Given the description of an element on the screen output the (x, y) to click on. 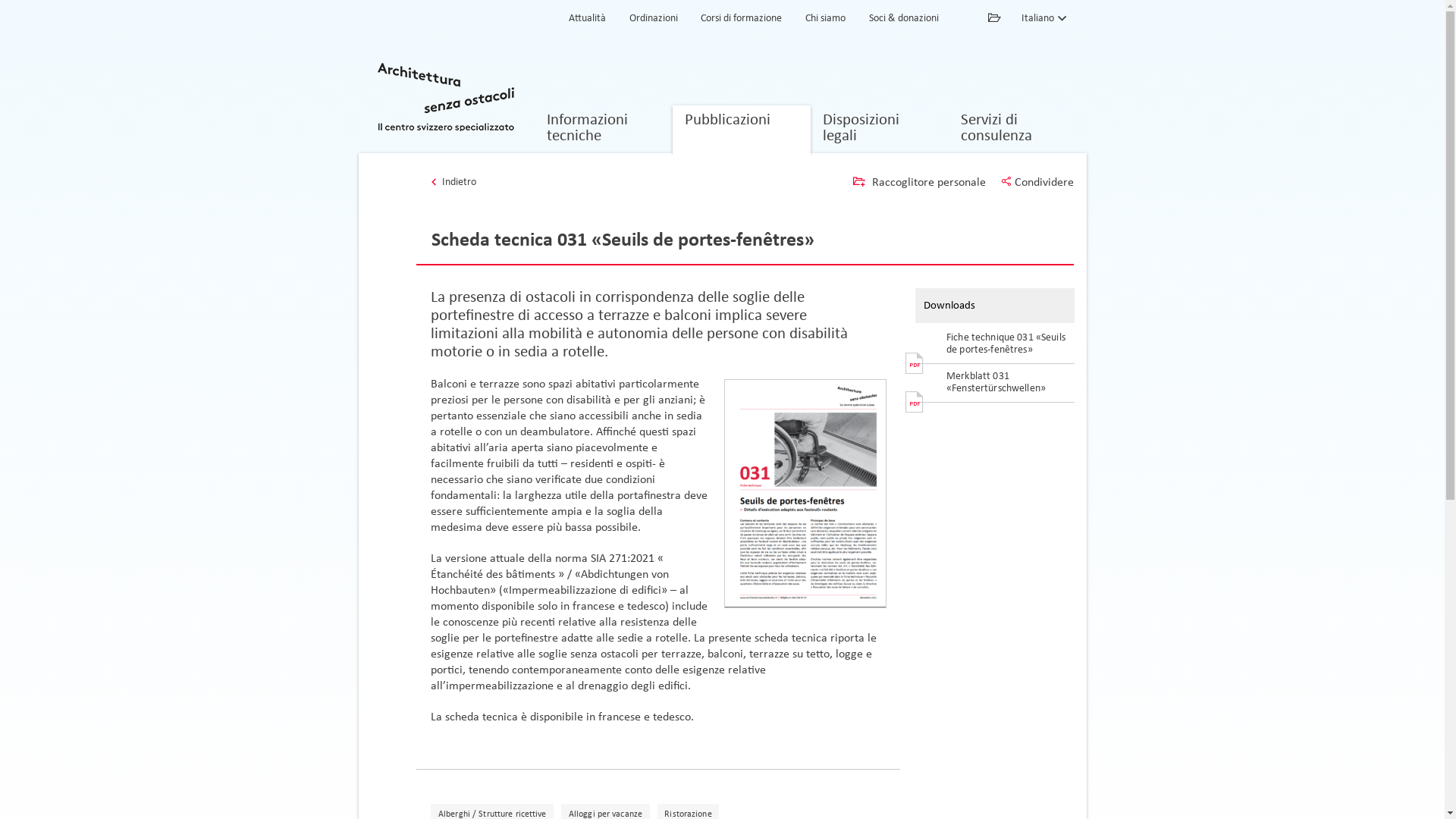
Informazioni tecniche Element type: text (602, 129)
 Raccoglitore personale Element type: text (919, 181)
Ordinazioni Element type: text (652, 18)
Soci & donazioni Element type: text (903, 18)
Disposizioni legali Element type: text (878, 129)
Condividere Element type: text (1037, 181)
Corsi di formazione Element type: text (741, 18)
Indietro Element type: text (453, 181)
Pubblicazioni Element type: text (740, 129)
Servizi di consulenza Element type: text (1016, 129)
Chi siamo Element type: text (825, 18)
Potrete creare il vostro raccoglitore personale online Element type: text (995, 17)
Italiano Element type: text (1044, 17)
